Given the description of an element on the screen output the (x, y) to click on. 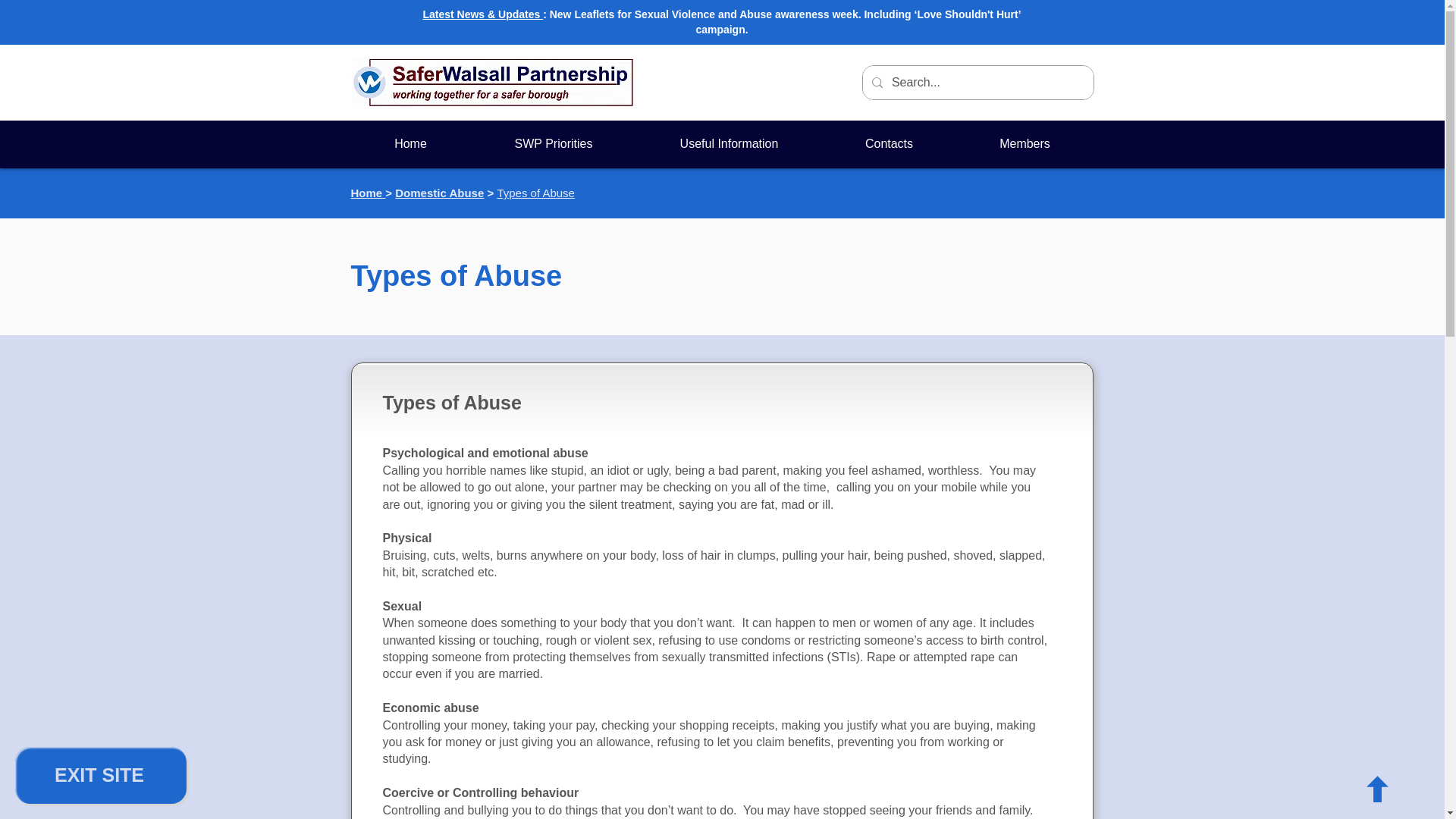
EXIT SITE (100, 774)
Home (410, 143)
Useful Information (729, 143)
Members (1024, 143)
Types of Abuse (535, 192)
image003.jpg (493, 82)
SWP Priorities (553, 143)
Domestic Abuse (438, 192)
Home (367, 192)
Contacts (889, 143)
